Given the description of an element on the screen output the (x, y) to click on. 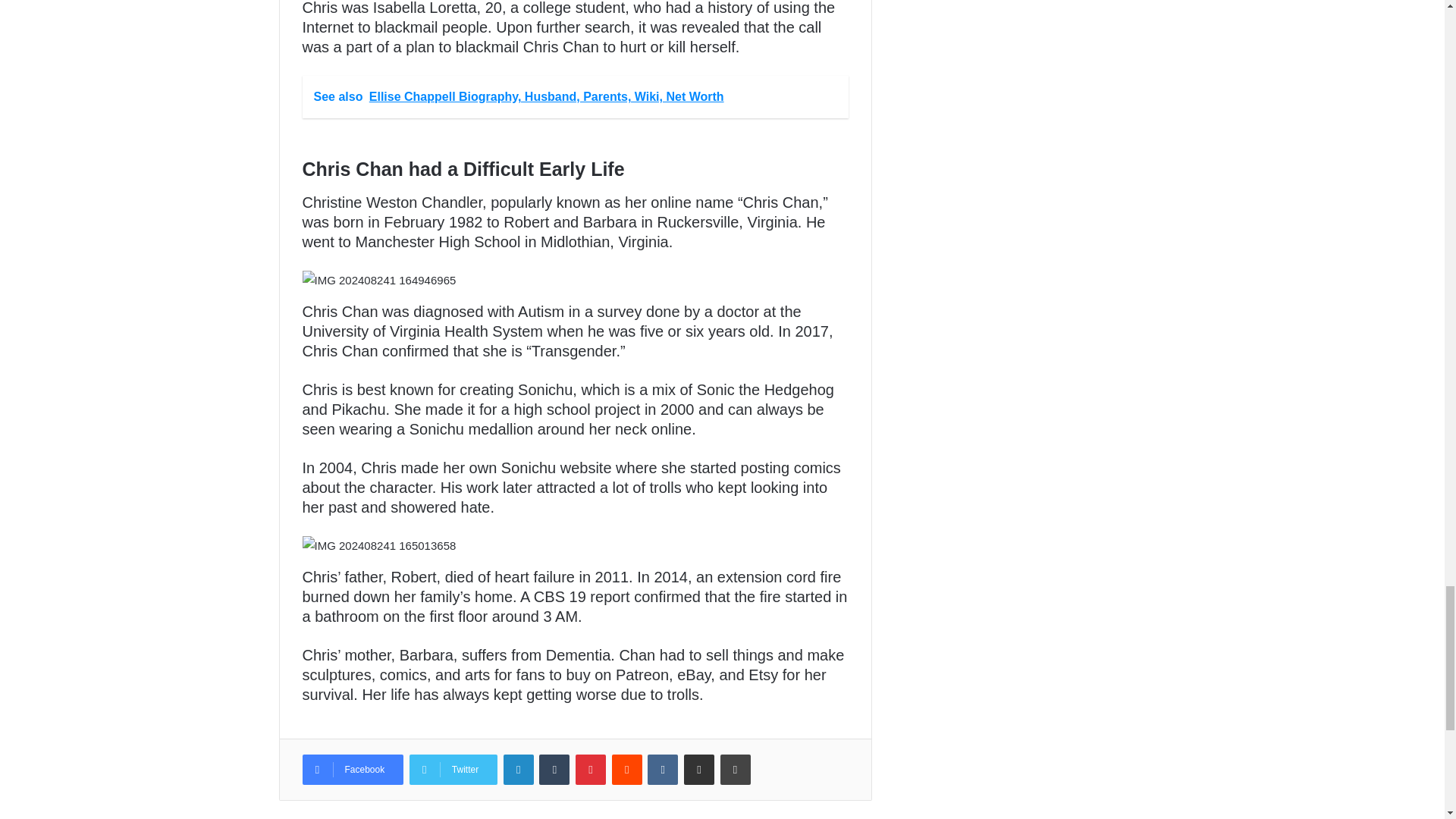
Facebook (352, 769)
VKontakte (662, 769)
Tumblr (553, 769)
Twitter (453, 769)
Share via Email (699, 769)
Reddit (626, 769)
LinkedIn (518, 769)
Pinterest (590, 769)
